Given the description of an element on the screen output the (x, y) to click on. 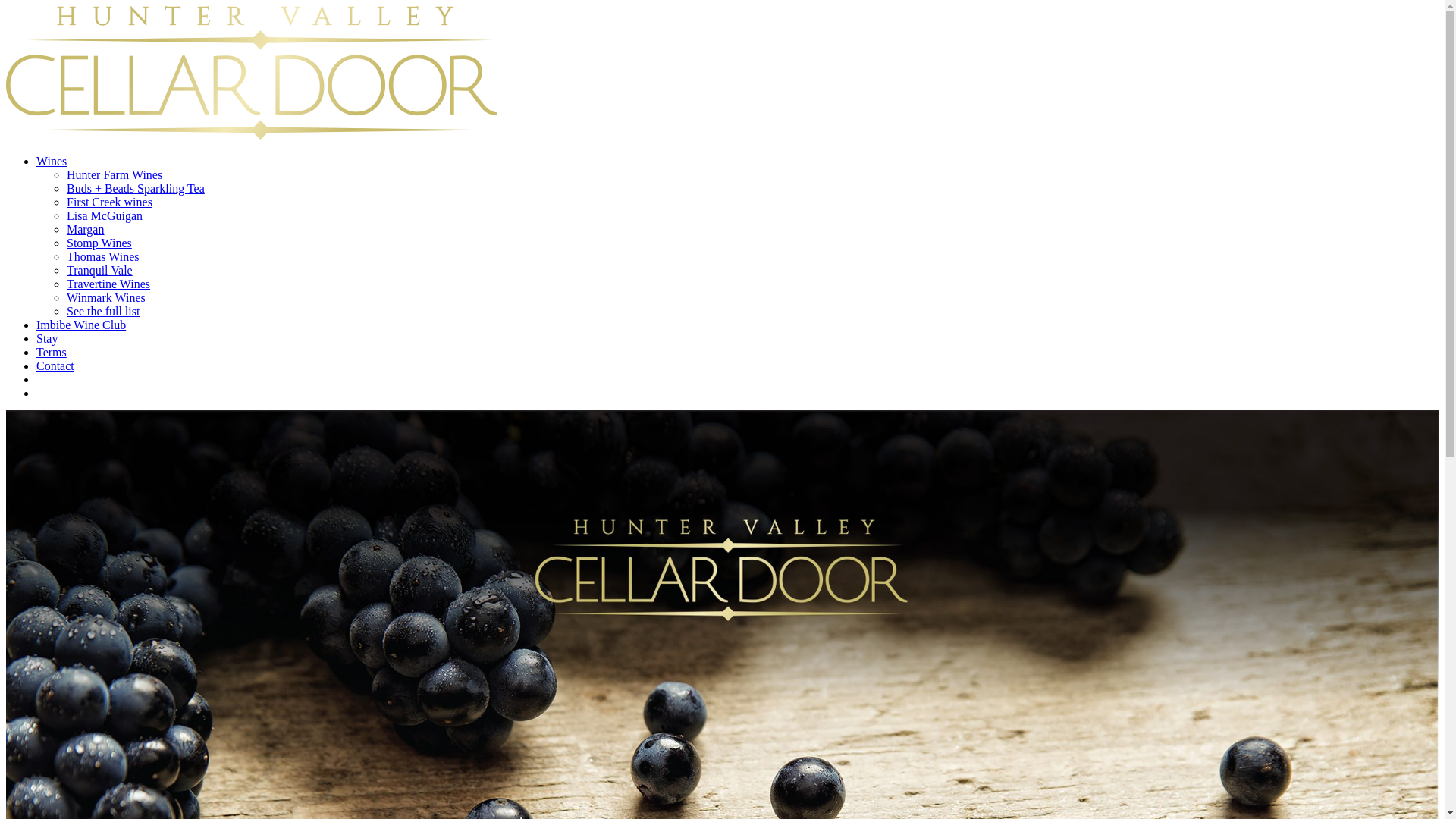
Margan Element type: text (84, 228)
Lisa McGuigan Element type: text (104, 215)
Hunter Valley Cellar Door Element type: hover (251, 134)
Contact Element type: text (55, 365)
Tranquil Vale Element type: text (99, 269)
Winmark Wines Element type: text (105, 297)
Terms Element type: text (51, 351)
Wines Element type: text (51, 160)
Travertine Wines Element type: text (108, 283)
Thomas Wines Element type: text (102, 256)
Imbibe Wine Club Element type: text (80, 324)
See the full list Element type: text (102, 310)
Buds + Beads Sparkling Tea Element type: text (135, 188)
First Creek wines Element type: text (109, 201)
Stay Element type: text (46, 338)
Stomp Wines Element type: text (98, 242)
Hunter Farm Wines Element type: text (114, 174)
